Given the description of an element on the screen output the (x, y) to click on. 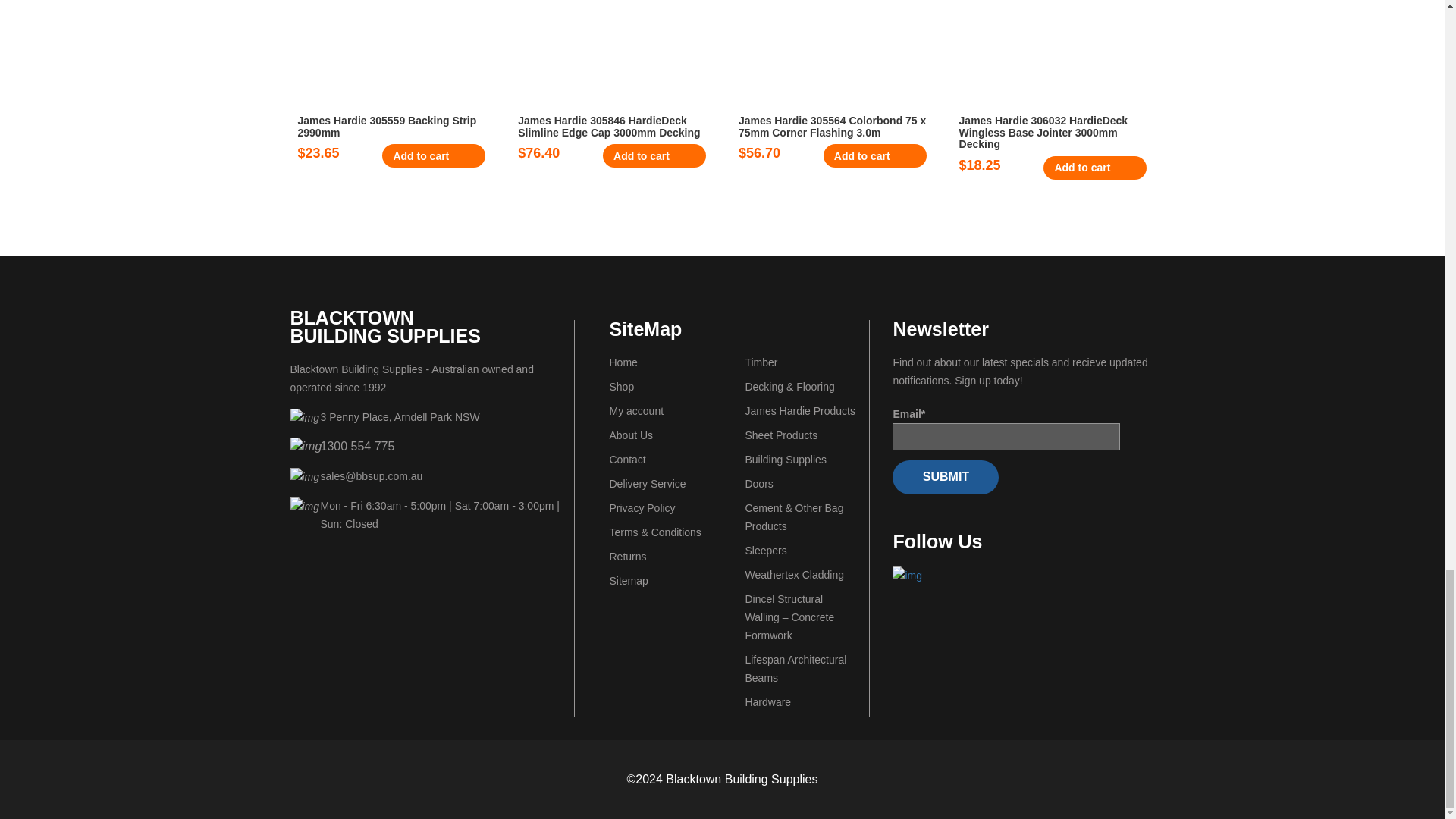
Submit (945, 477)
